Given the description of an element on the screen output the (x, y) to click on. 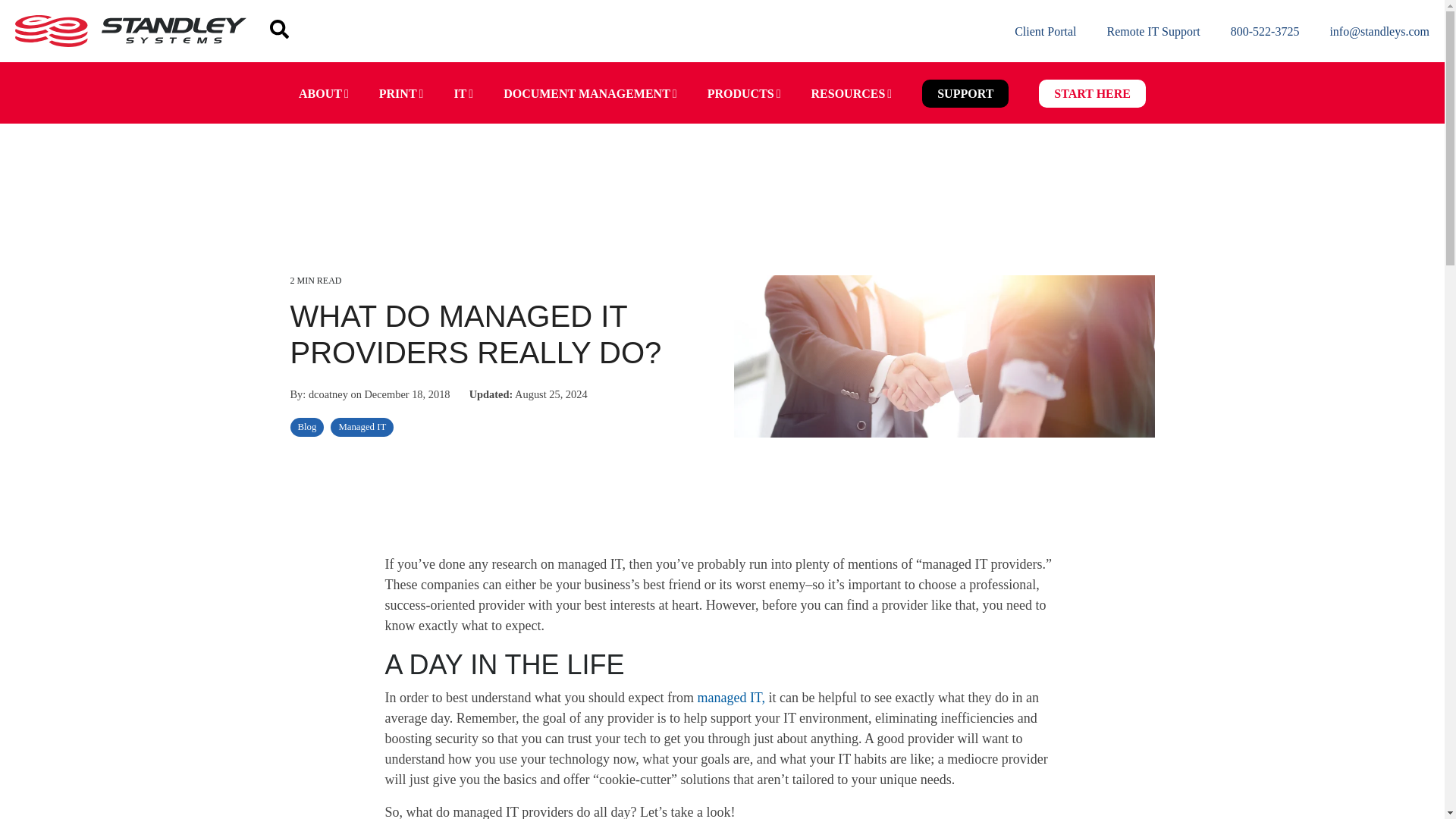
DOCUMENT MANAGEMENT (590, 93)
RESOURCES (851, 93)
SUPPORT (965, 93)
ABOUT (323, 93)
PRODUCTS (744, 93)
Client Portal (1044, 31)
Remote IT Support (1152, 31)
START HERE (1091, 93)
800-522-3725 (1264, 31)
Stanley Systems Logo (130, 30)
